Given the description of an element on the screen output the (x, y) to click on. 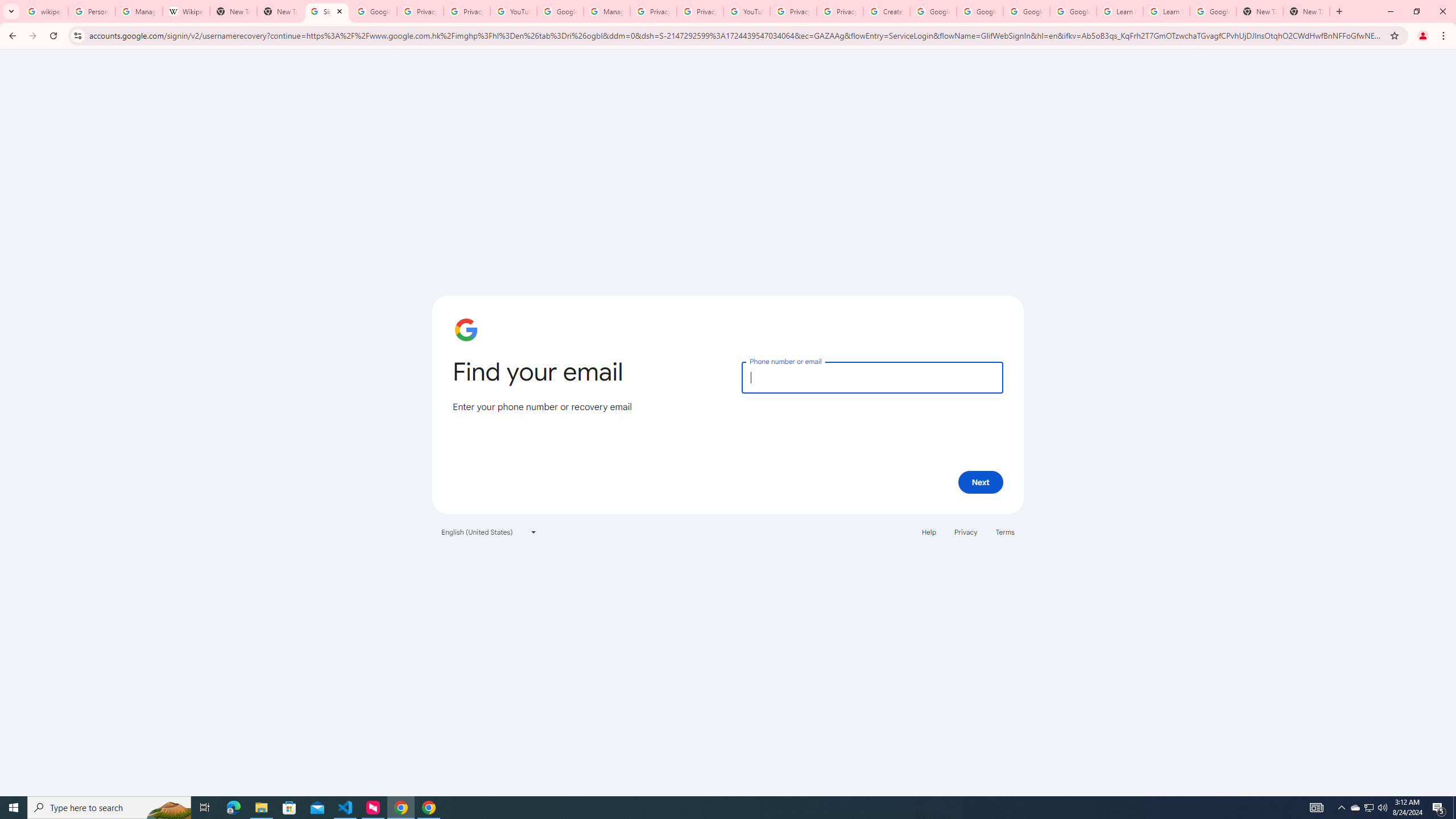
Personalization & Google Search results - Google Search Help (91, 11)
New Tab (279, 11)
Google Account (1213, 11)
